Given the description of an element on the screen output the (x, y) to click on. 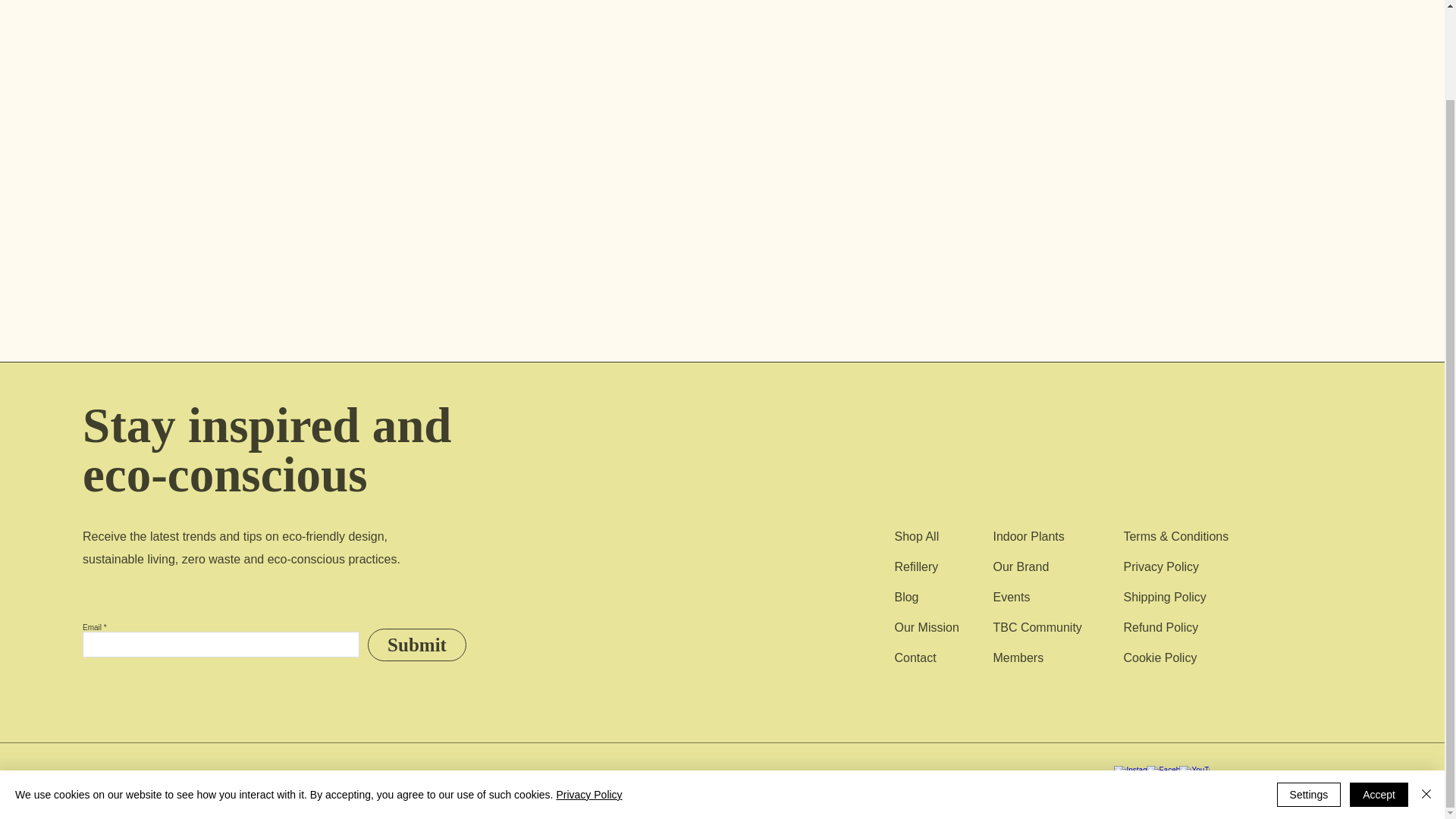
Shop All (916, 535)
Privacy Policy (588, 692)
Refund Policy (1160, 626)
TBC Community (1036, 626)
Our Mission (925, 626)
Settings (1308, 692)
Members (1017, 657)
Refillery (915, 566)
Blog (905, 596)
Events (1010, 596)
